Given the description of an element on the screen output the (x, y) to click on. 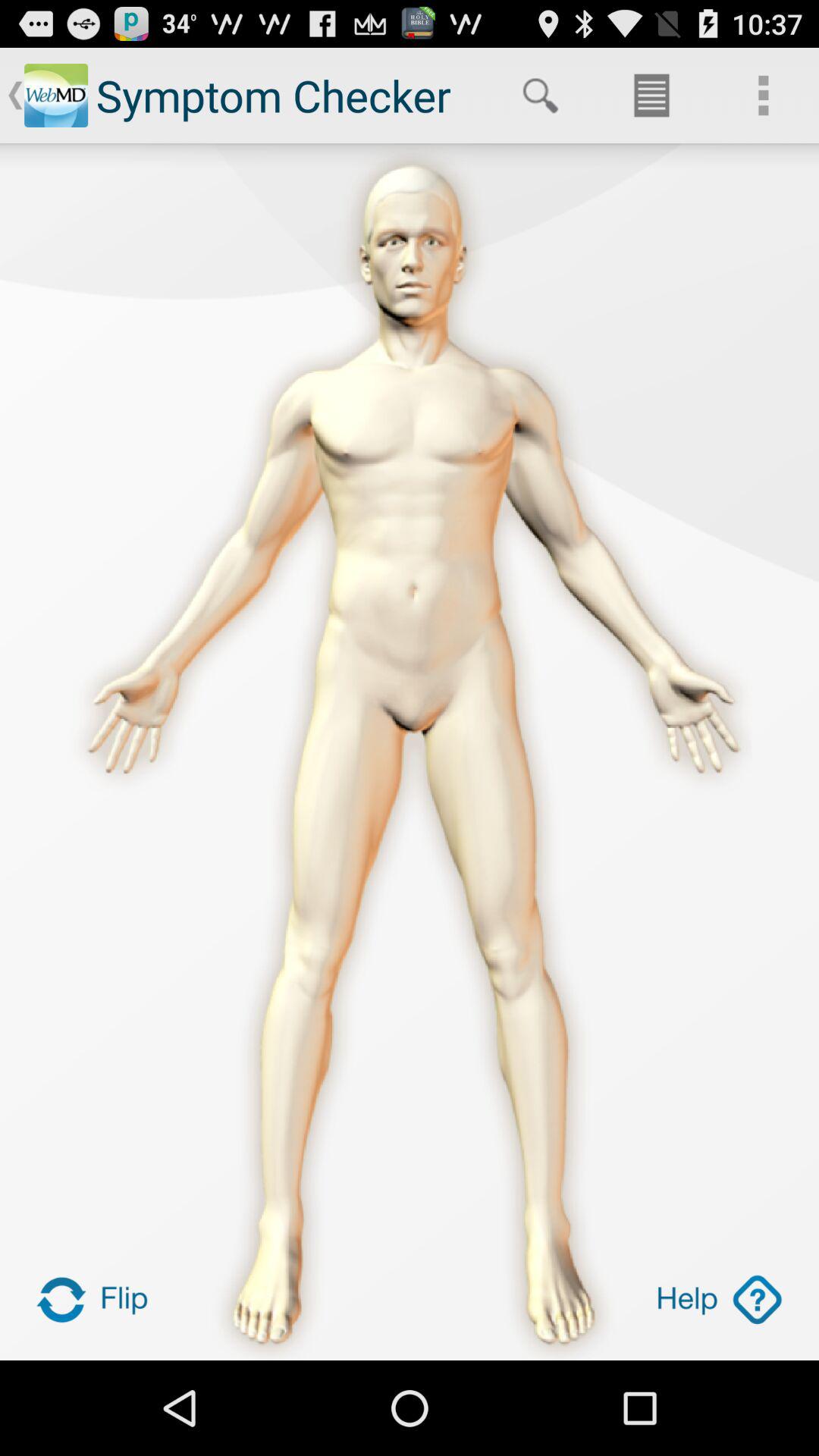
search help on the website (719, 1299)
